Given the description of an element on the screen output the (x, y) to click on. 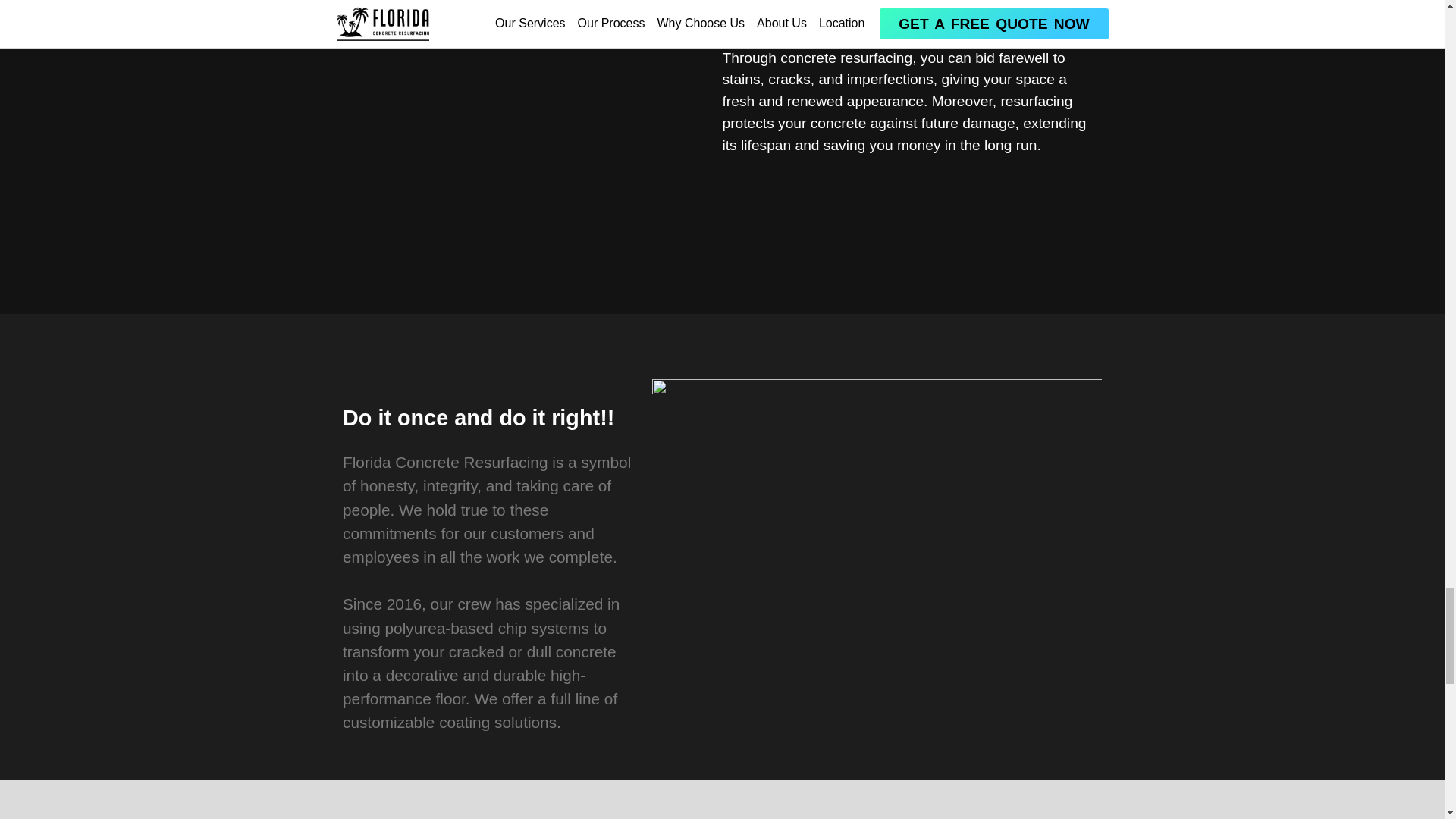
GET A FREE QUOTE NOW (722, 232)
